Given the description of an element on the screen output the (x, y) to click on. 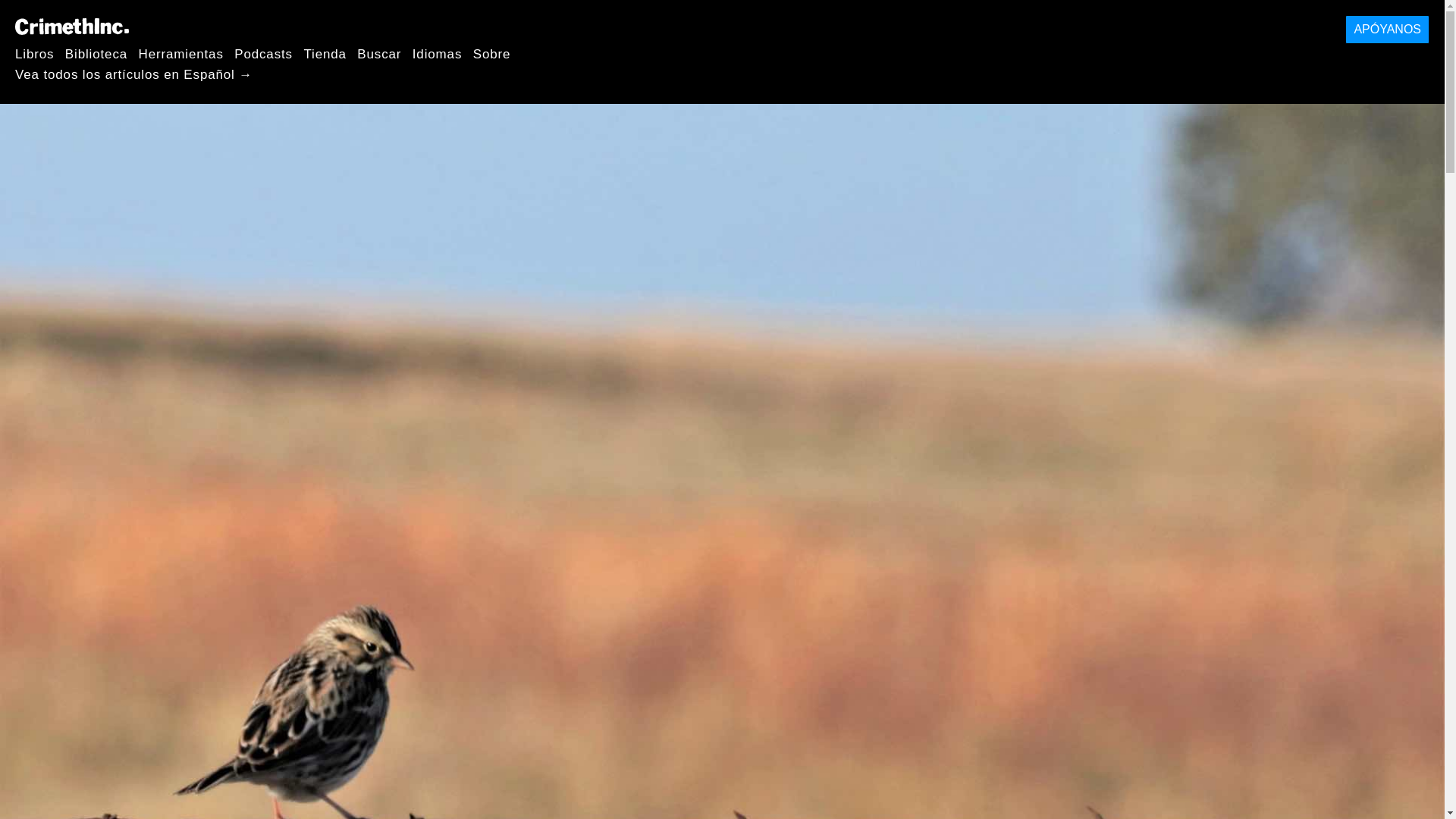
Libros (33, 53)
Biblioteca (96, 53)
Sobre (492, 53)
Podcasts (263, 53)
Herramientas (181, 53)
Buscar (378, 53)
Idiomas (436, 53)
CrimethInc. (71, 26)
Tienda (324, 53)
